Given the description of an element on the screen output the (x, y) to click on. 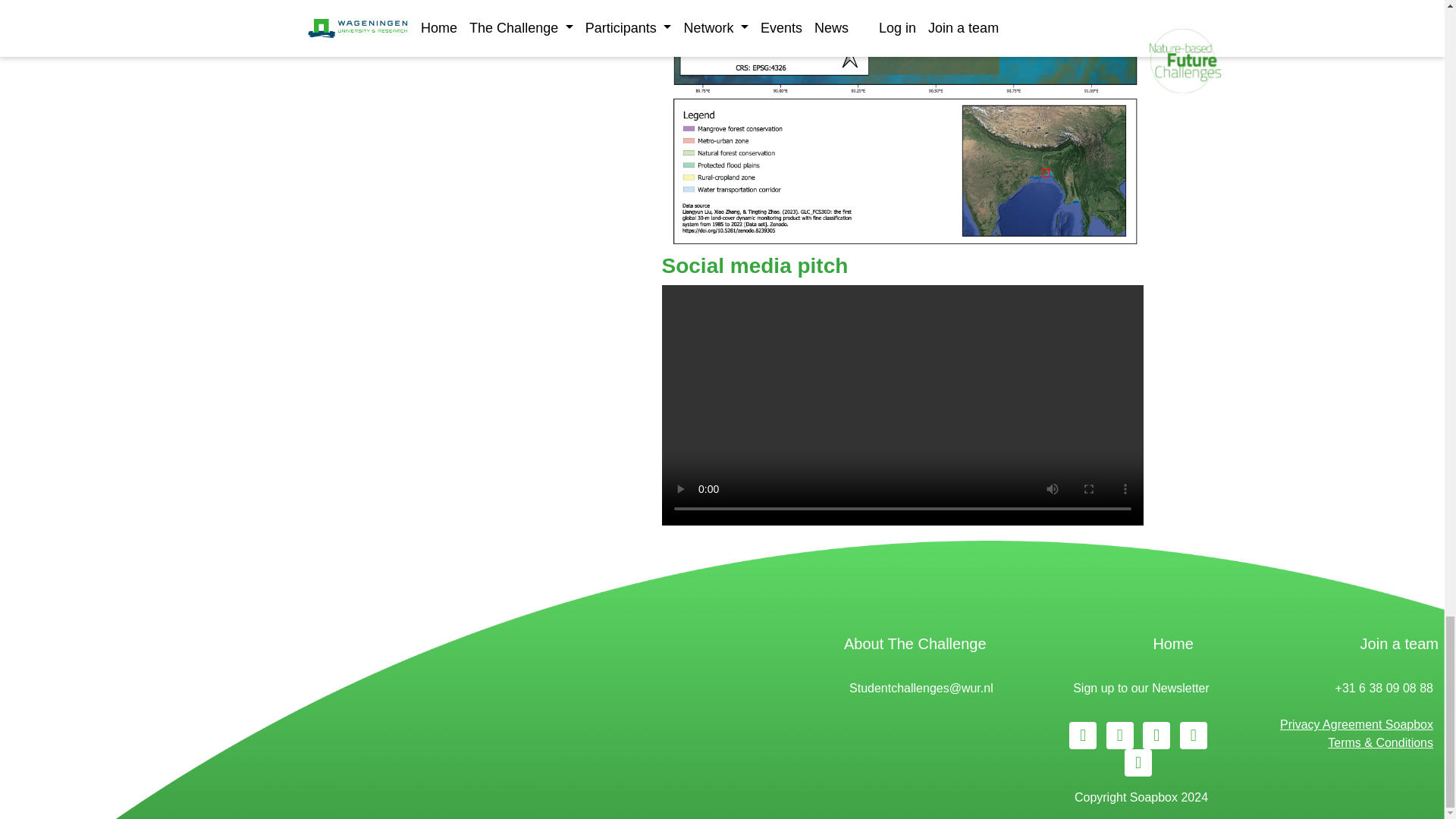
Sign up to our Newsletter (1141, 687)
Home (1172, 643)
About The Challenge (915, 643)
Join a team (1398, 643)
